Given the description of an element on the screen output the (x, y) to click on. 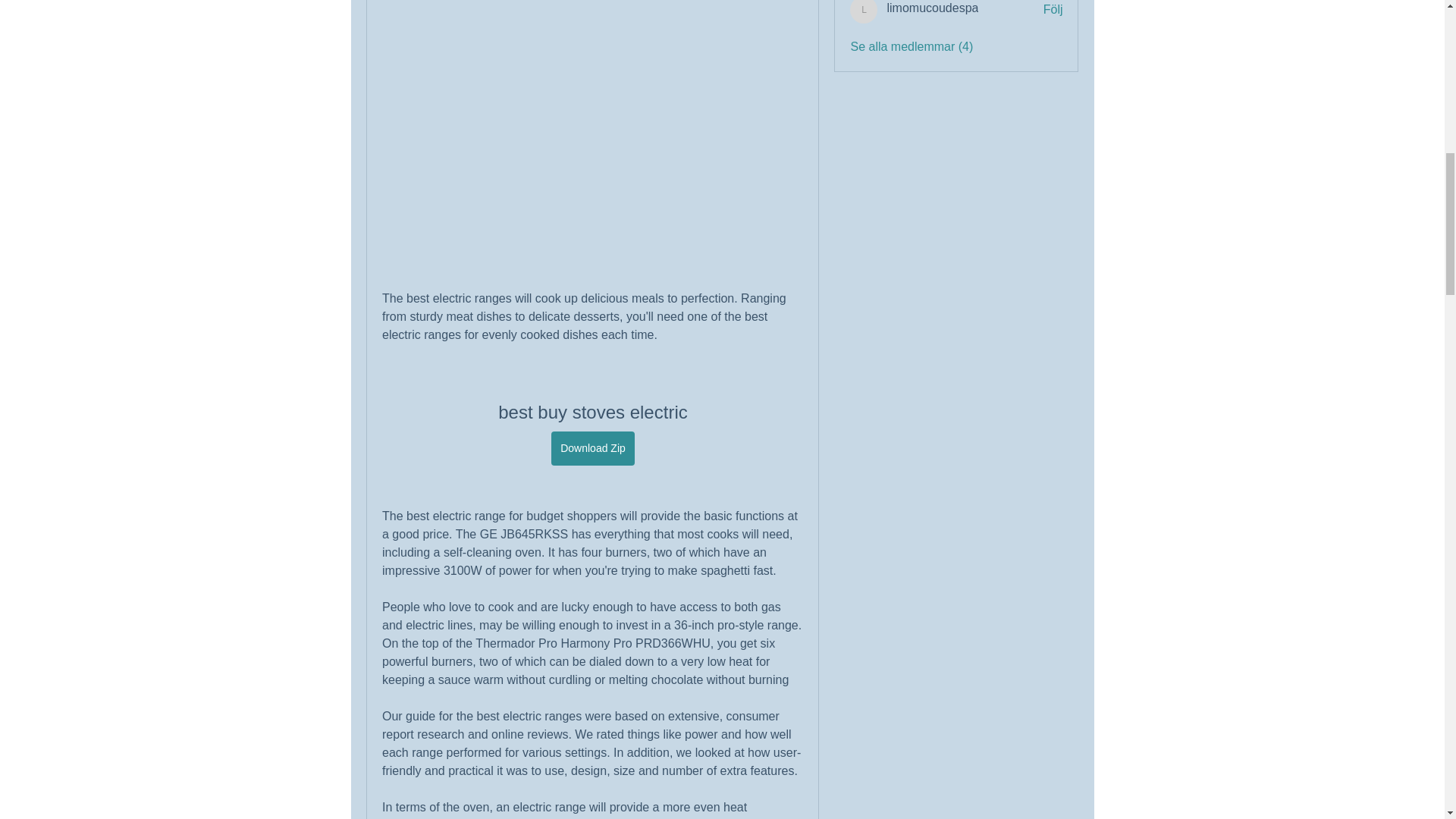
limomucoudespa (932, 8)
limomucoudespa (863, 11)
Download Zip (592, 448)
limomucoudespa (932, 8)
